Given the description of an element on the screen output the (x, y) to click on. 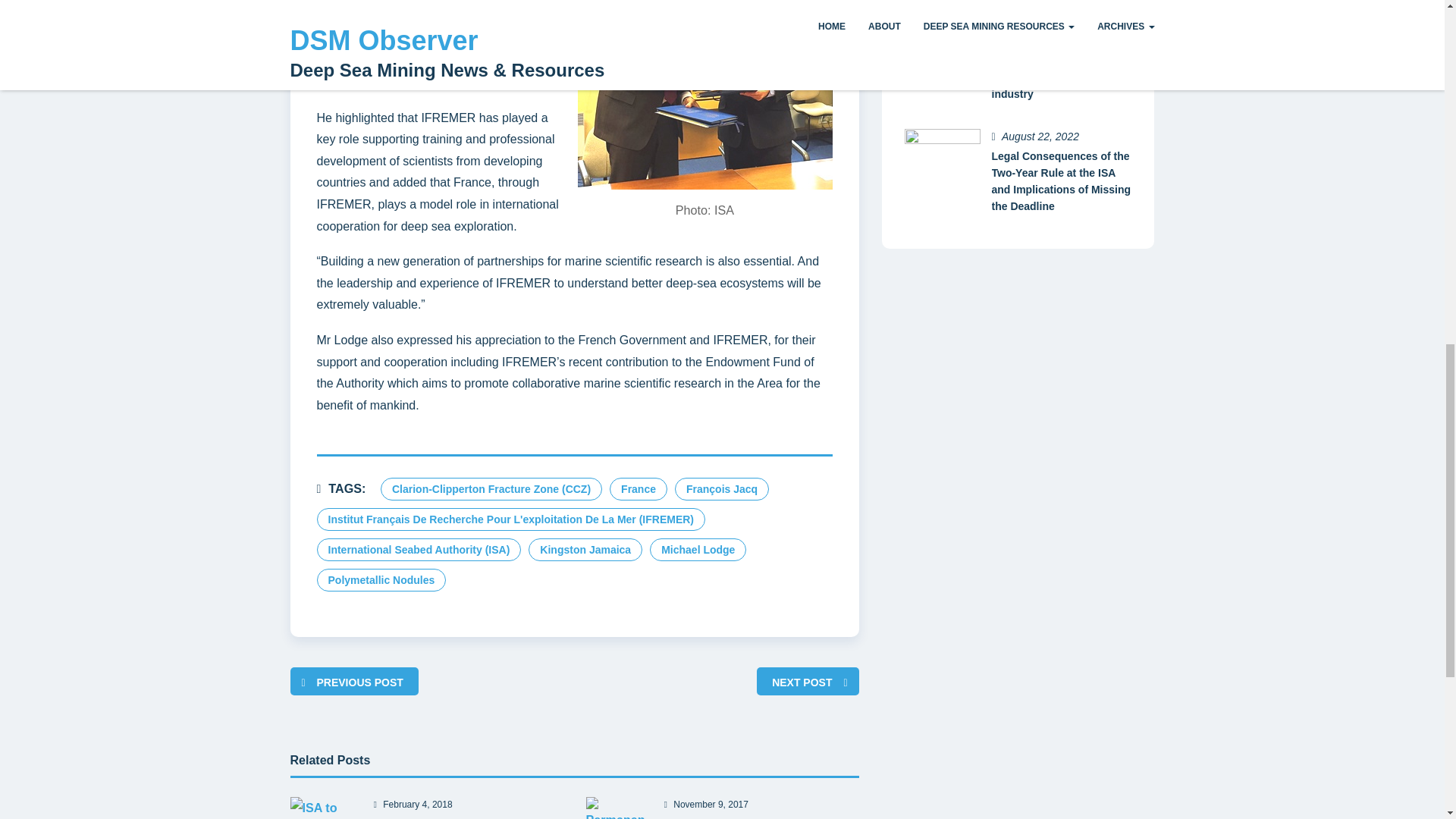
Michael Lodge (697, 549)
France (638, 488)
NEXT POST (801, 682)
PREVIOUS POST (360, 682)
Kingston Jamaica (585, 549)
Polymetallic Nodules (381, 579)
